Given the description of an element on the screen output the (x, y) to click on. 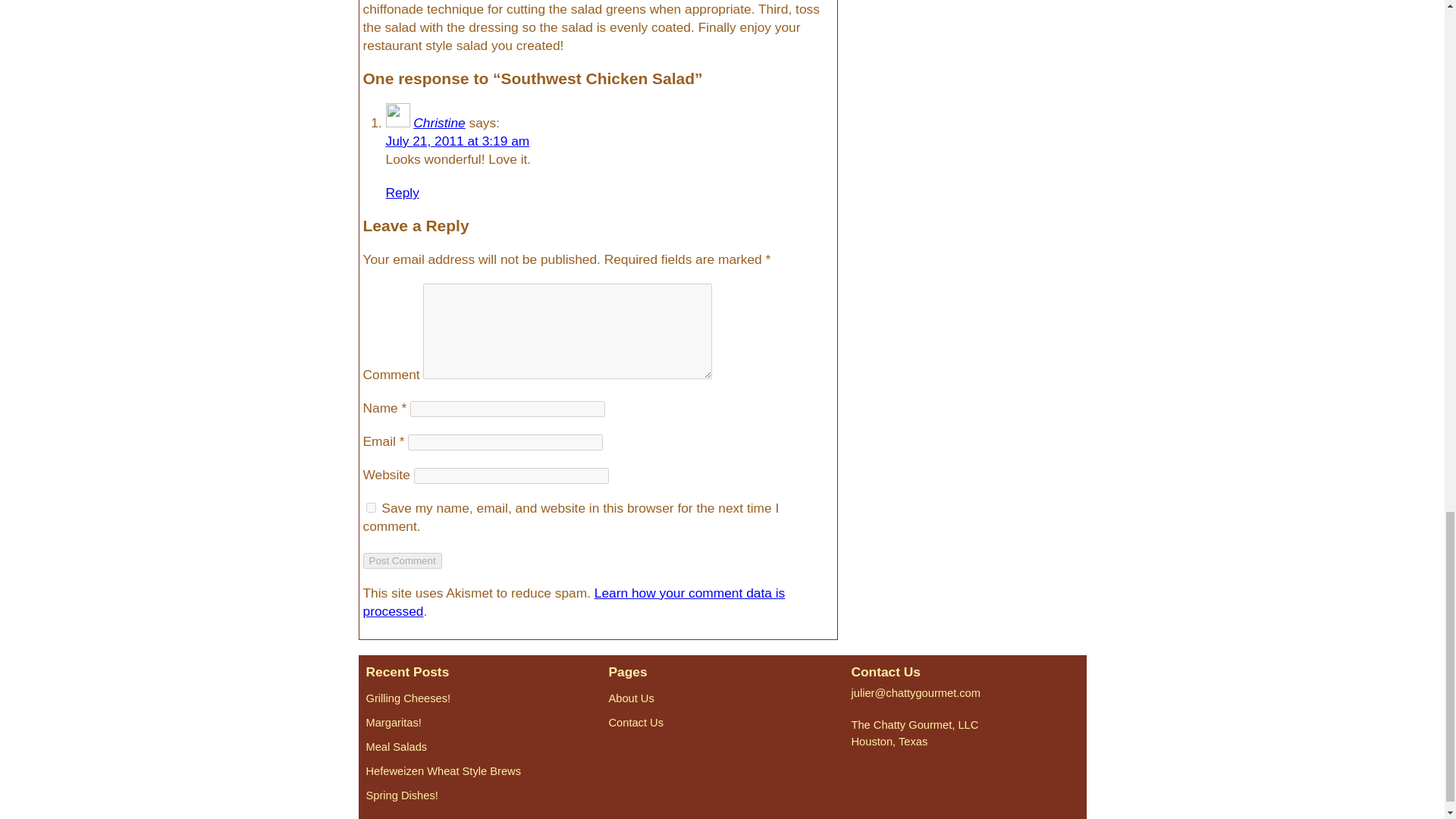
Christine (438, 122)
yes (370, 507)
Reply (402, 192)
Post Comment (401, 560)
July 21, 2011 at 3:19 am (457, 140)
Post Comment (401, 560)
Learn how your comment data is processed (573, 602)
